Given the description of an element on the screen output the (x, y) to click on. 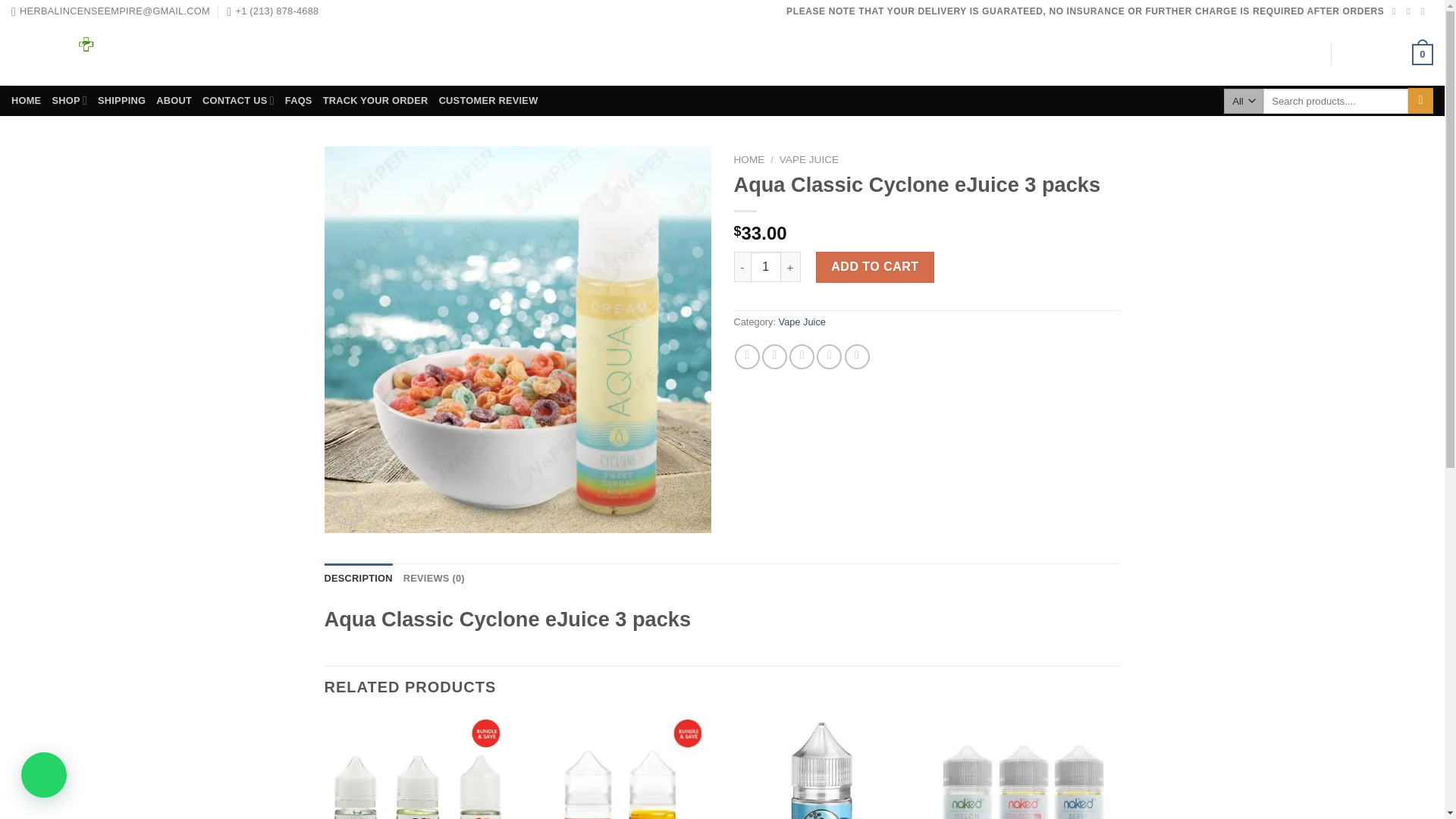
VAPE JUICE (808, 159)
Search (1419, 100)
Follow on Facebook (1395, 10)
SHOP (68, 100)
- (742, 266)
Herbal Incense Empire - Best herbal incense and vape store (111, 54)
Cart (1387, 54)
FAQS (299, 100)
Follow on Instagram (1410, 10)
1 (765, 266)
Vape Juice (801, 321)
HOME (25, 100)
Zoom (347, 510)
ABOUT (173, 100)
